Given the description of an element on the screen output the (x, y) to click on. 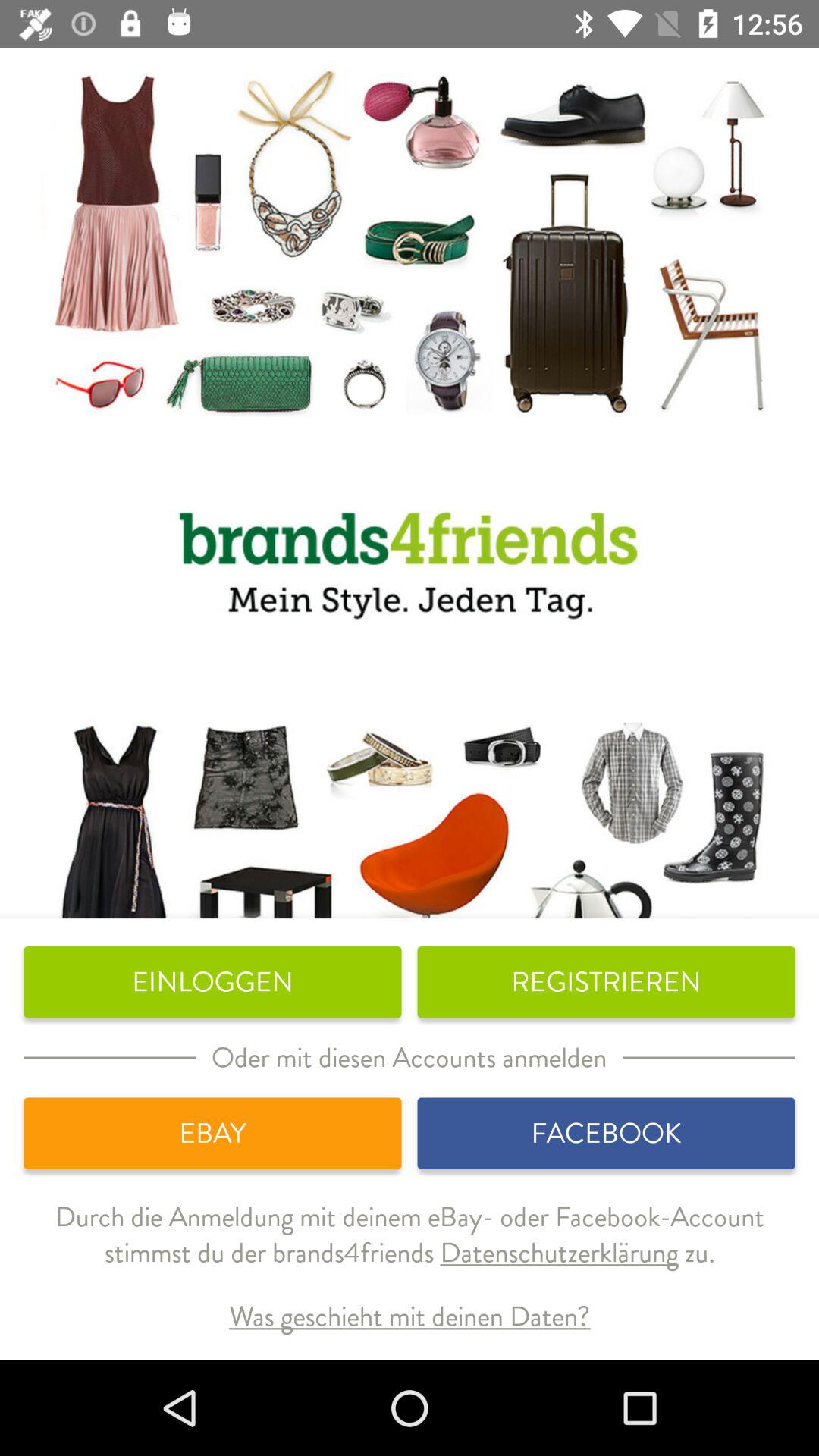
open the icon next to registrieren icon (212, 982)
